Given the description of an element on the screen output the (x, y) to click on. 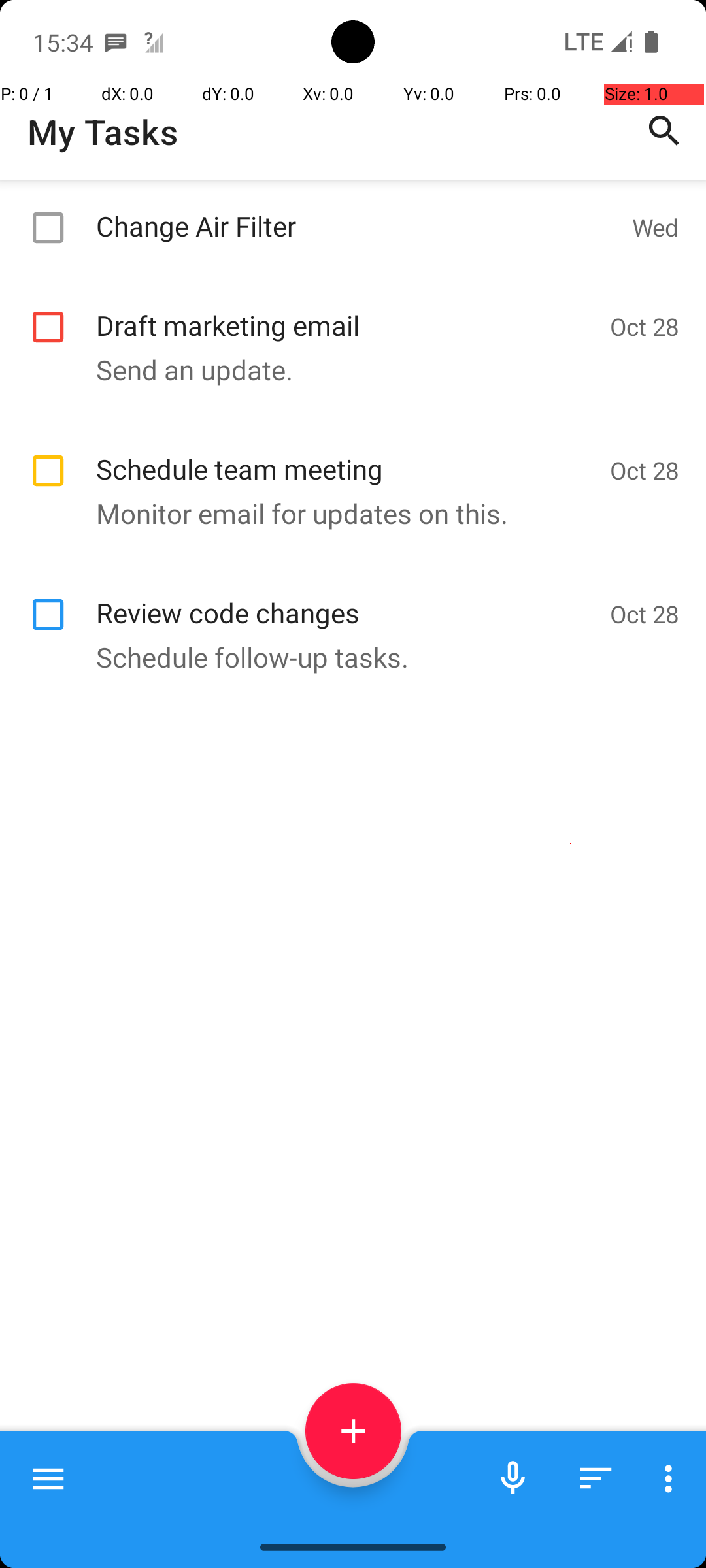
Draft marketing email Element type: android.widget.TextView (346, 310)
Send an update. Element type: android.widget.TextView (346, 369)
Oct 28 Element type: android.widget.TextView (644, 325)
Schedule team meeting Element type: android.widget.TextView (346, 454)
Monitor email for updates on this. Element type: android.widget.TextView (346, 512)
Review code changes Element type: android.widget.TextView (346, 598)
Schedule follow-up tasks. Element type: android.widget.TextView (346, 656)
